Given the description of an element on the screen output the (x, y) to click on. 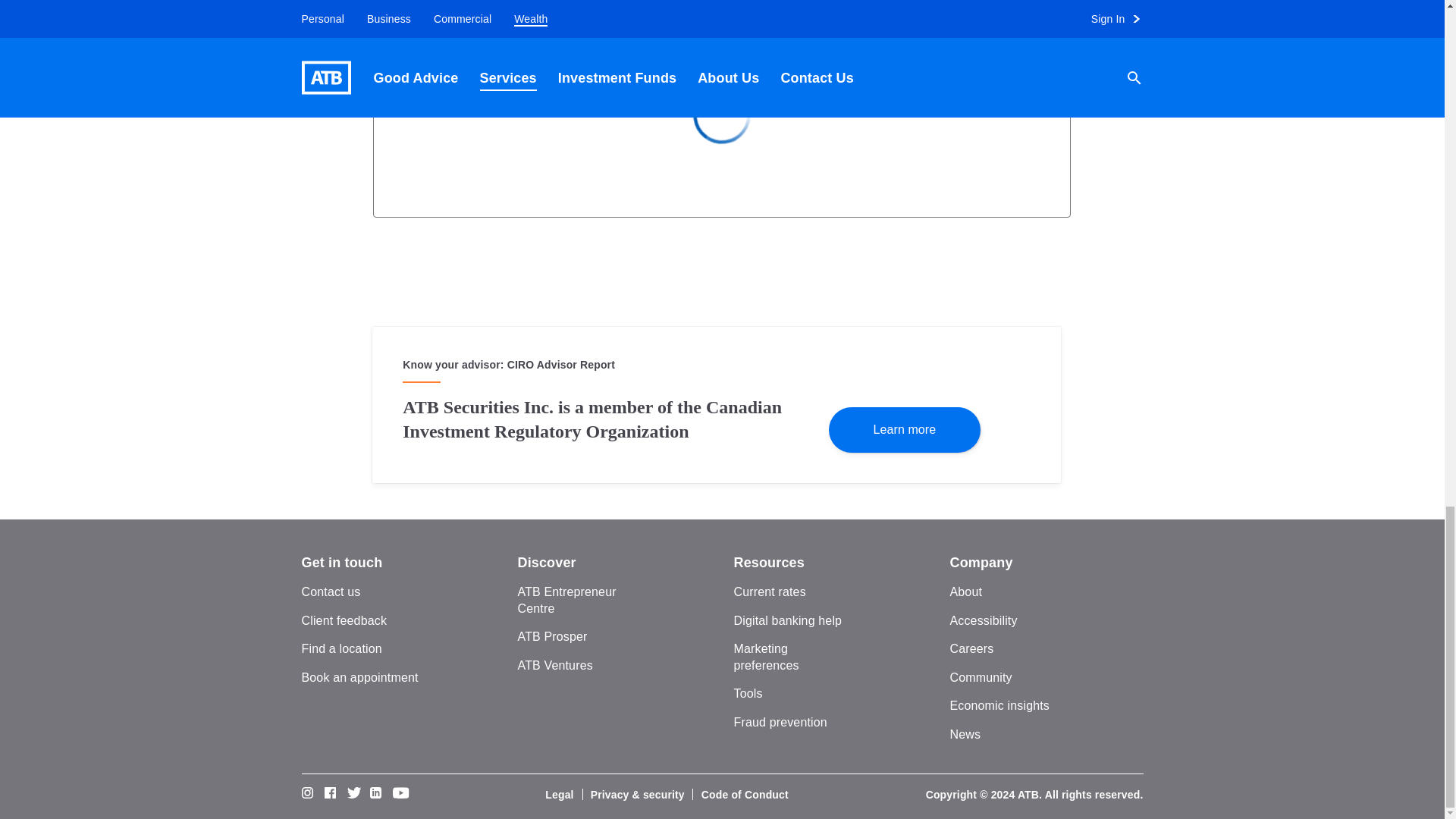
About (965, 591)
Learn more (903, 428)
Contact us (331, 591)
ATB Entrepreneur Centre (565, 600)
Book an appointment (360, 676)
Fraud prevention (780, 721)
ATB Ventures (554, 665)
Tools (747, 693)
Community (980, 676)
Digital banking help (788, 620)
Marketing preferences (766, 656)
Client feedback (344, 620)
Current rates (769, 591)
Accessibility (982, 620)
Careers (970, 648)
